Given the description of an element on the screen output the (x, y) to click on. 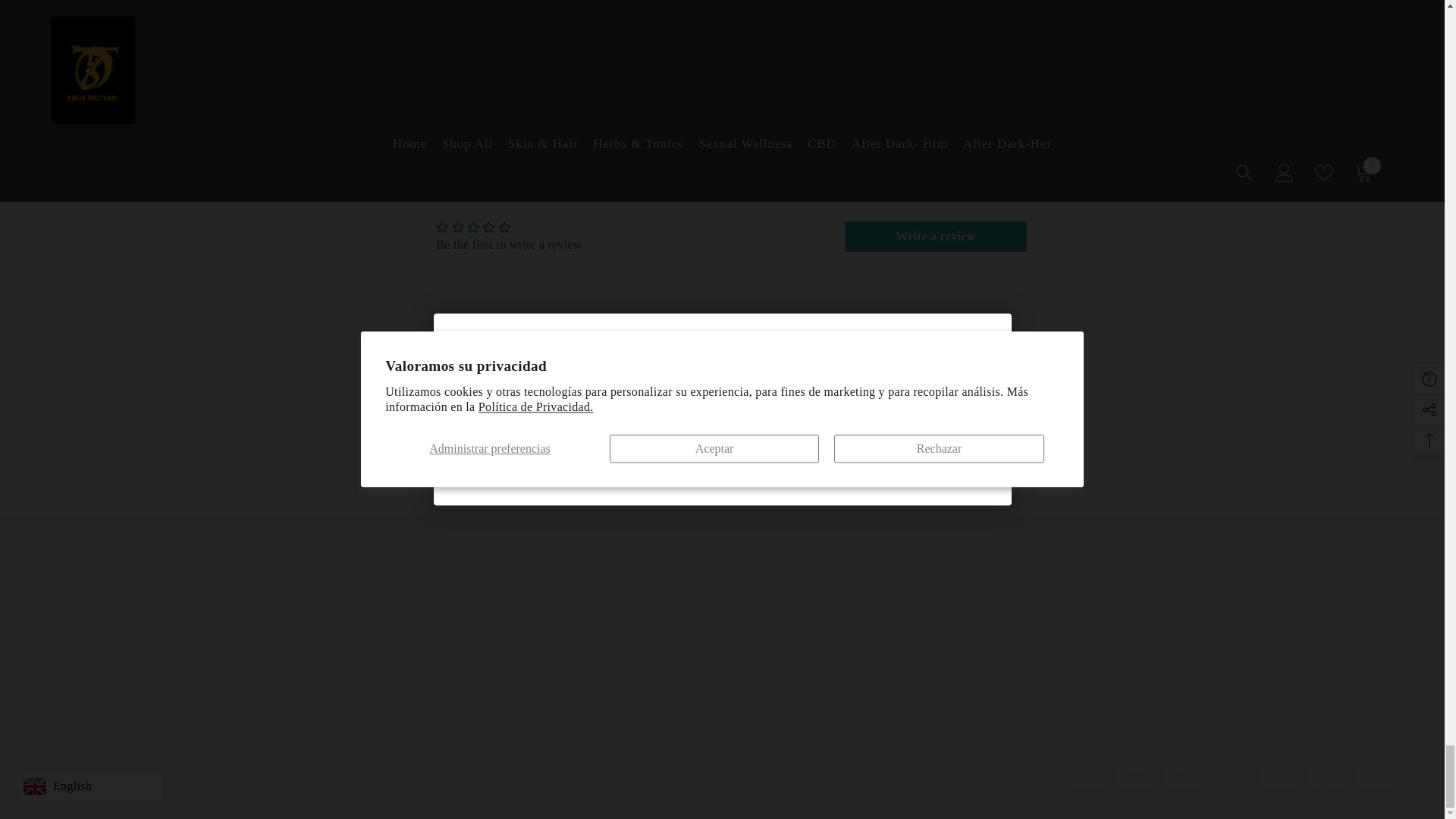
Visa (1084, 776)
Bitcoin (1325, 776)
Mastercard (1132, 776)
Maestro (1180, 776)
American Express (209, 690)
Apple Pay (1229, 776)
